Given the description of an element on the screen output the (x, y) to click on. 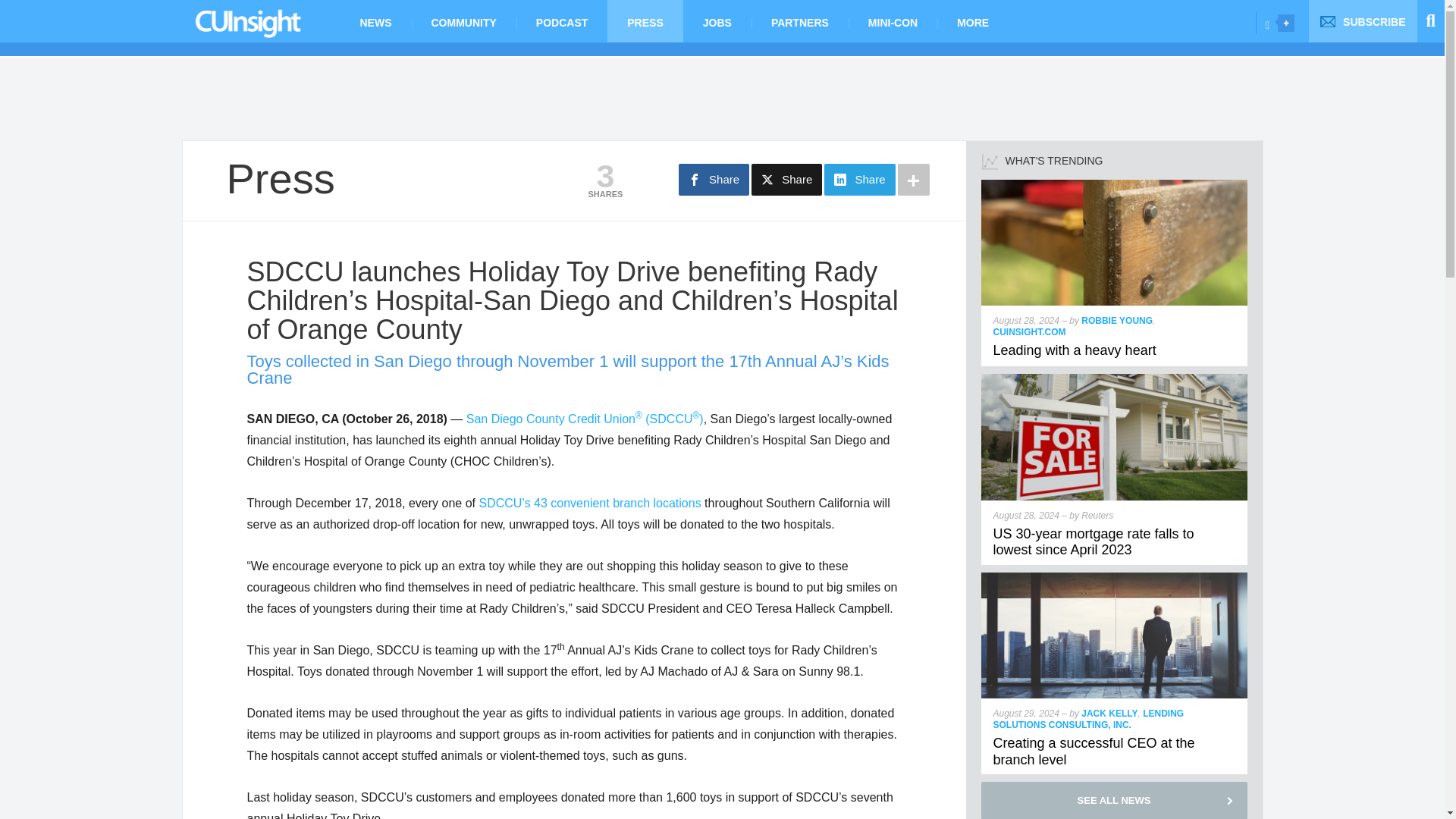
US 30-year mortgage rate falls to lowest since April 2023 (1092, 541)
Opener (1286, 22)
Share (786, 179)
SUBSCRIBE (1362, 21)
COMMUNITY (462, 21)
MINI-CON (892, 21)
Creating a successful CEO at the branch level (1114, 578)
Press (279, 178)
Leading with a heavy heart (1074, 350)
Creating a successful CEO at the branch level (1093, 751)
